Given the description of an element on the screen output the (x, y) to click on. 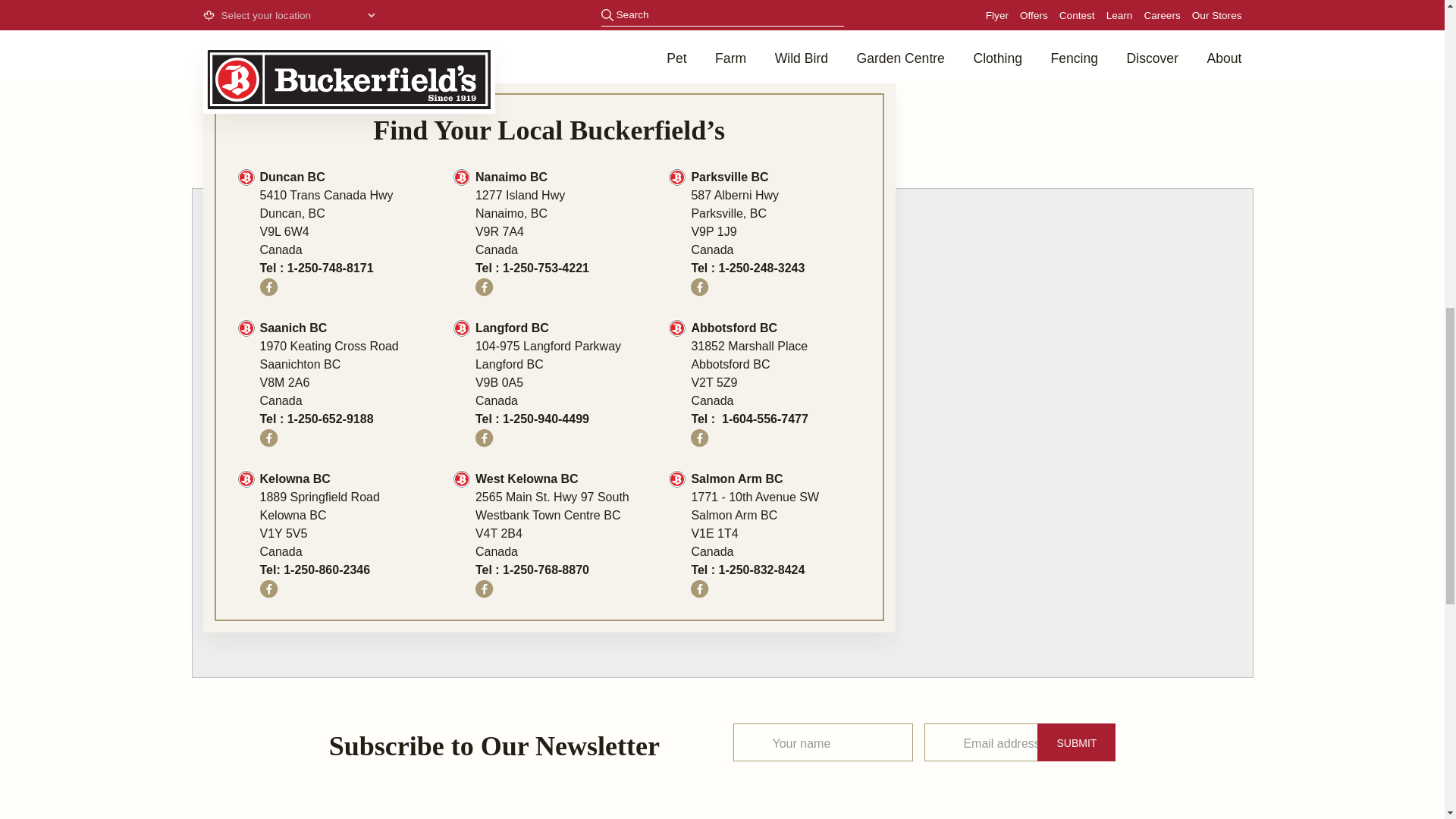
Duncan BC (291, 176)
1-250-748-8171 (330, 267)
Submit (1075, 742)
